Given the description of an element on the screen output the (x, y) to click on. 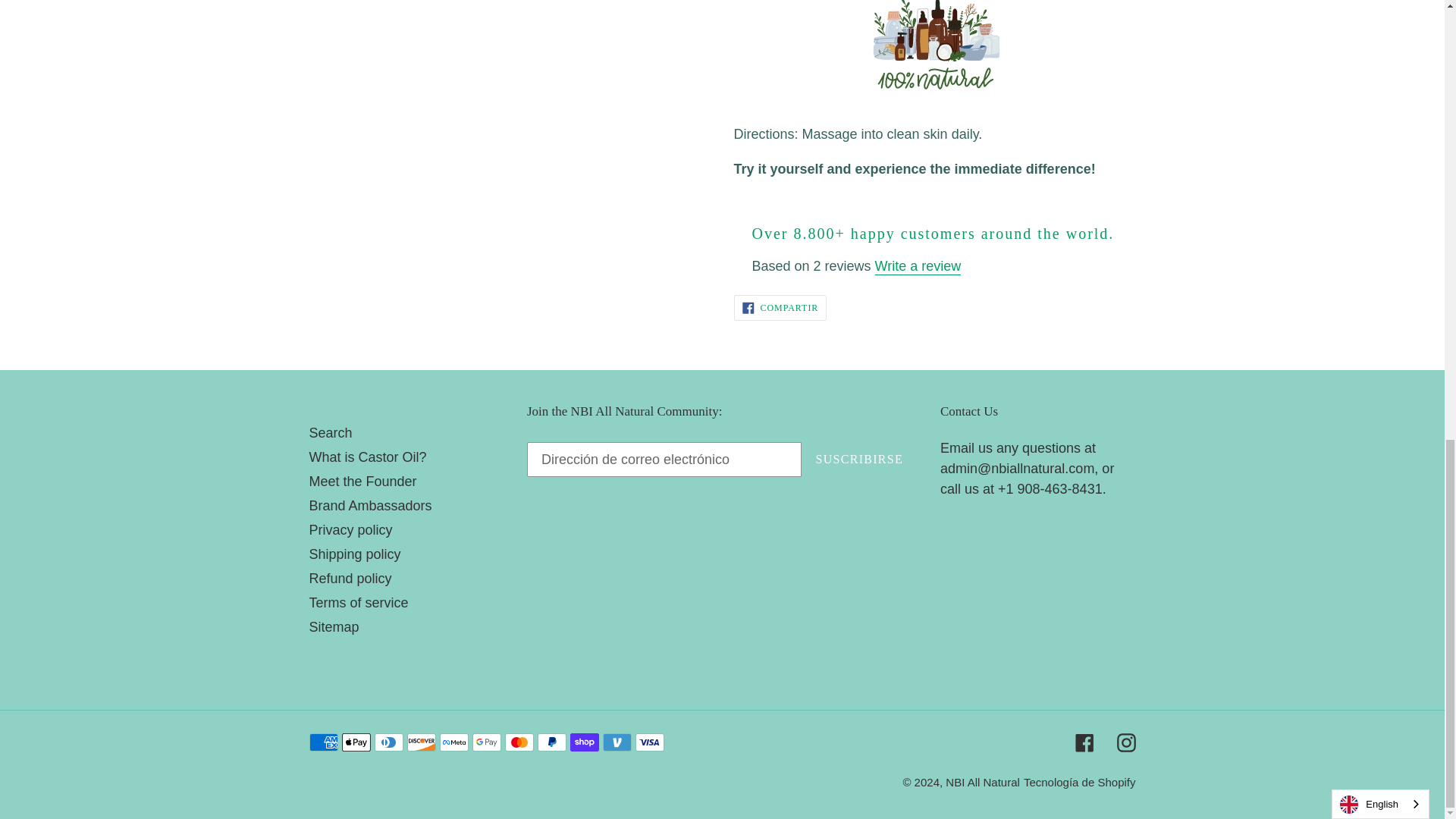
Search (330, 432)
What is Castor Oil? (367, 457)
Write a review (917, 266)
Brand Ambassadors (780, 307)
Meet the Founder (370, 505)
